Given the description of an element on the screen output the (x, y) to click on. 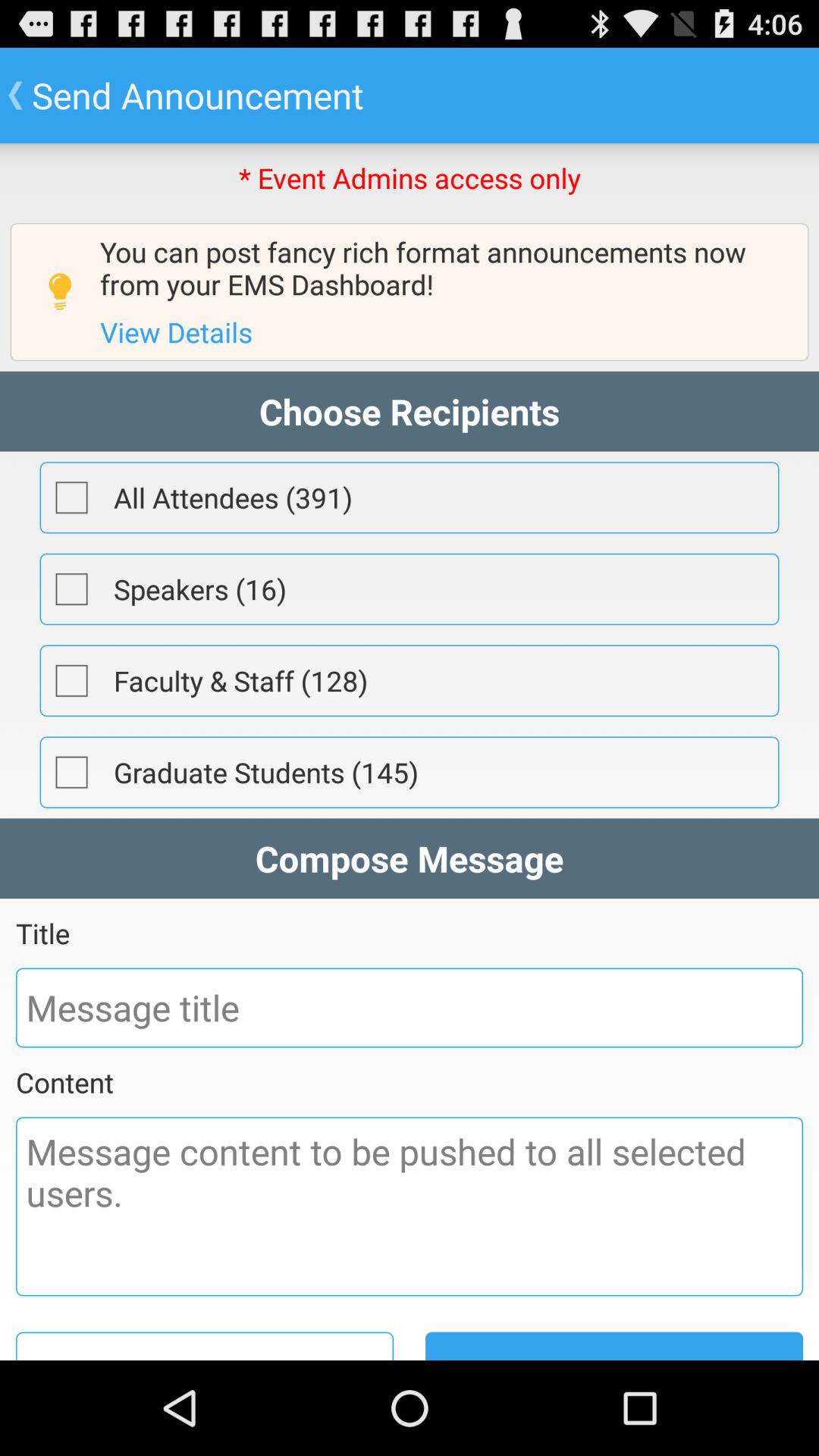
type message (409, 1206)
